Given the description of an element on the screen output the (x, y) to click on. 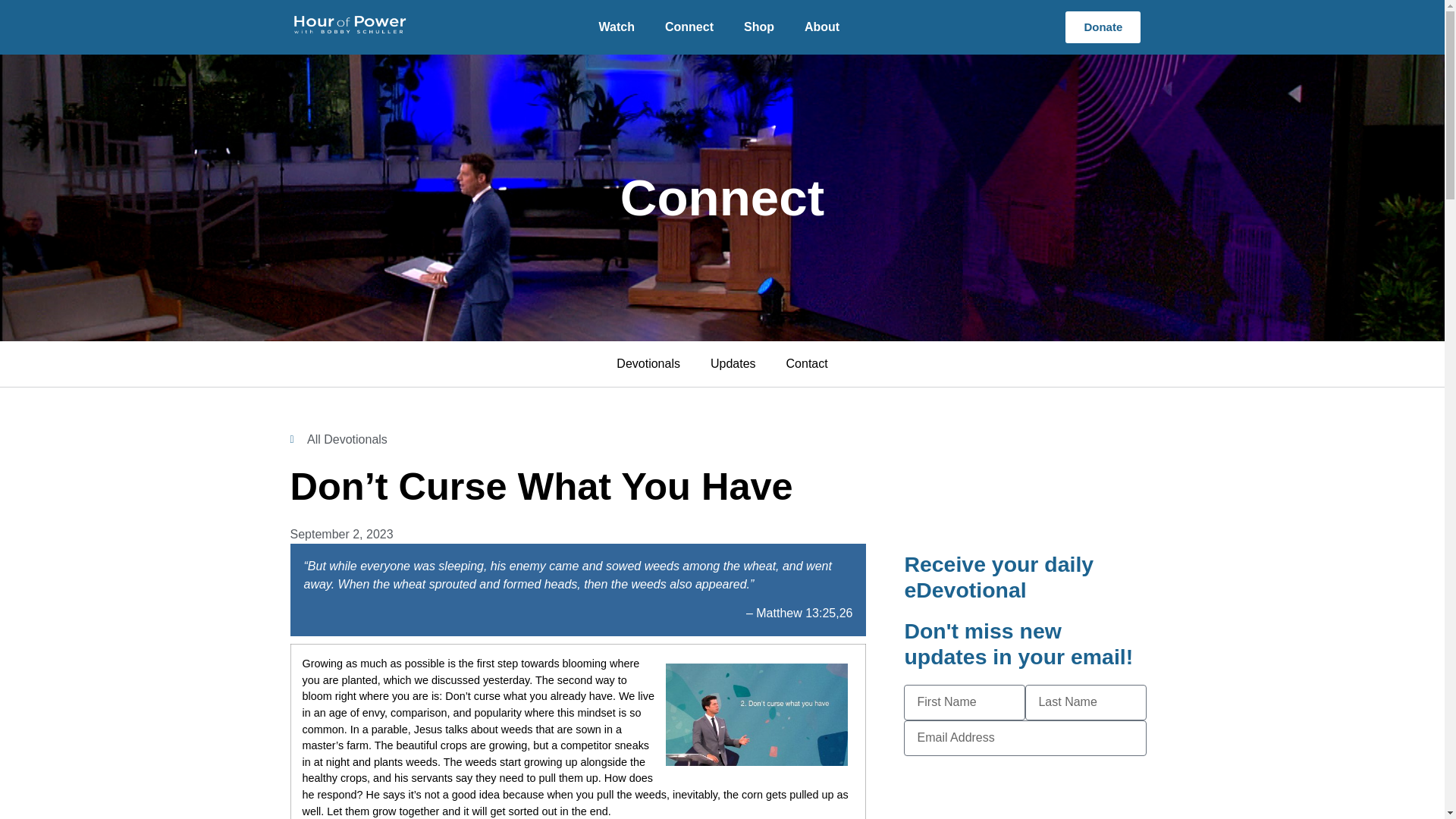
About (821, 26)
Updates (733, 363)
Donate (1102, 27)
September 2, 2023 (341, 534)
Subscribe (1025, 774)
Devotionals (648, 363)
Connect (689, 26)
Watch (616, 26)
Shop (759, 26)
Contact (807, 363)
All Devotionals (338, 439)
